Given the description of an element on the screen output the (x, y) to click on. 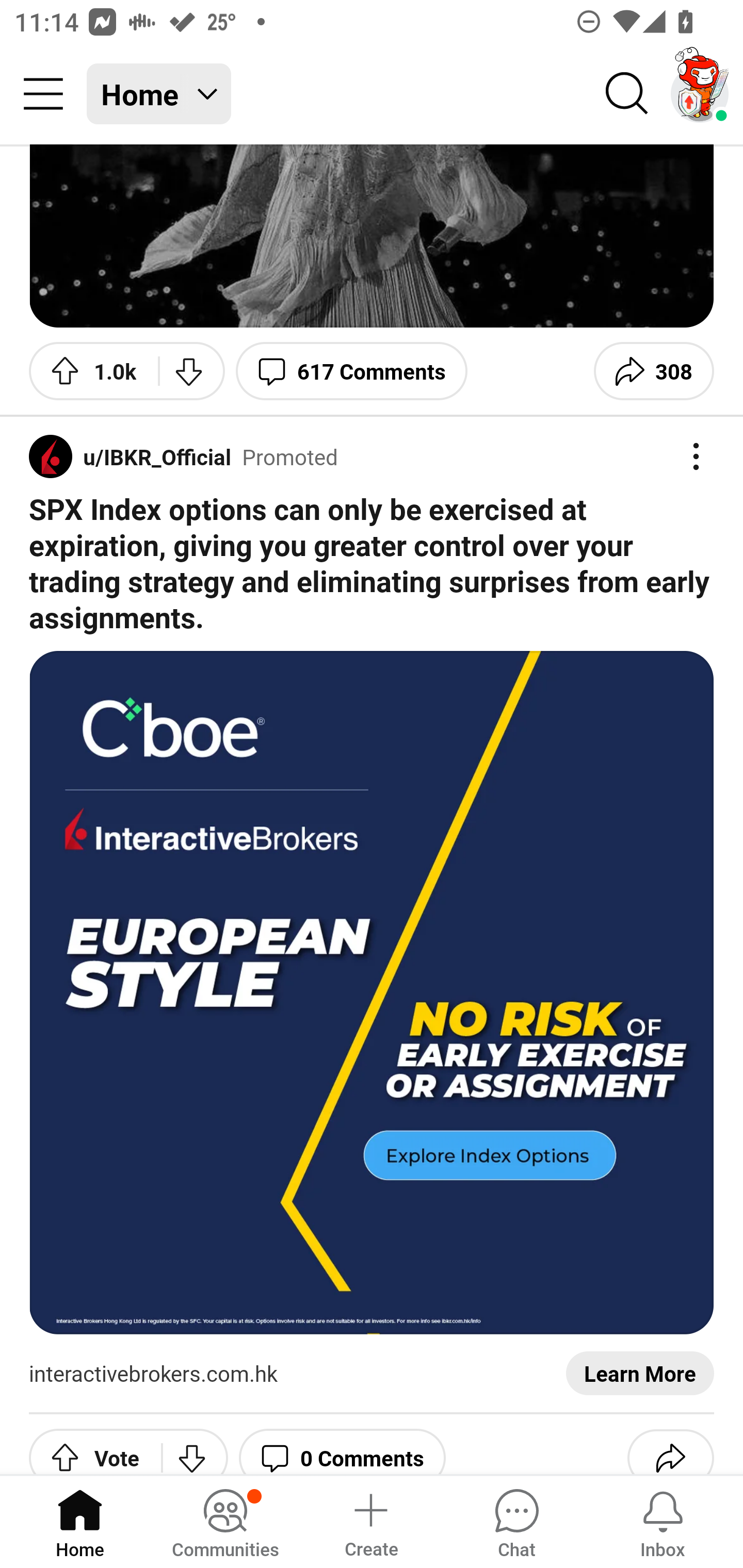
Community menu (43, 93)
Home Home feed (158, 93)
Search (626, 93)
TestAppium002 account (699, 93)
Home (80, 1520)
Communities, has notifications Communities (225, 1520)
Create a post Create (370, 1520)
Chat (516, 1520)
Inbox (662, 1520)
